Given the description of an element on the screen output the (x, y) to click on. 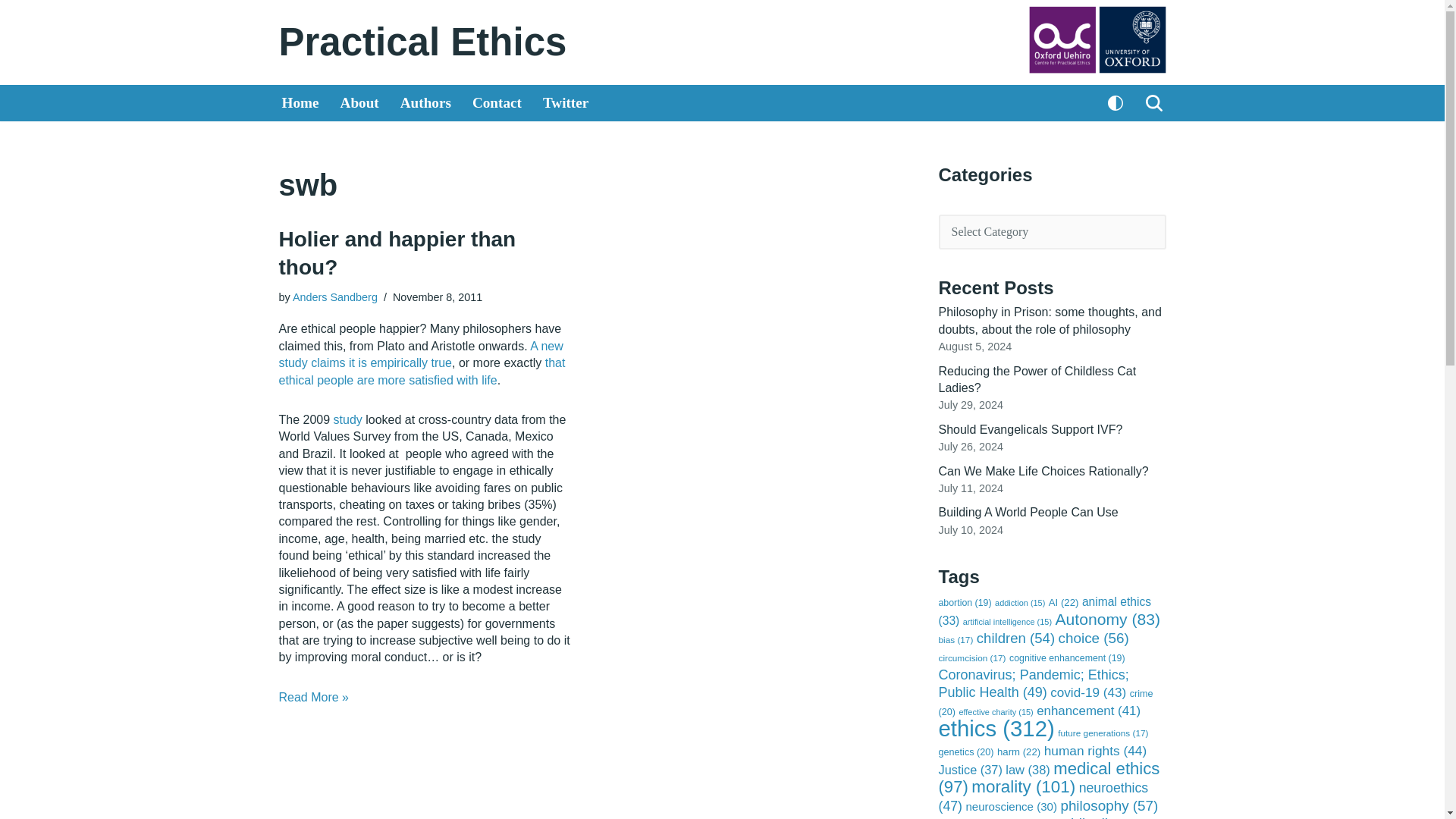
Holier and happier than thou? (397, 252)
Contact (496, 102)
Anders Sandberg (334, 297)
About (359, 102)
that ethical people are more satisfied with life (422, 370)
A new study claims it is empirically true (421, 354)
Can We Make Life Choices Rationally? (1043, 471)
study (347, 419)
Home (300, 102)
Should Evangelicals Support IVF? (1030, 429)
